Given the description of an element on the screen output the (x, y) to click on. 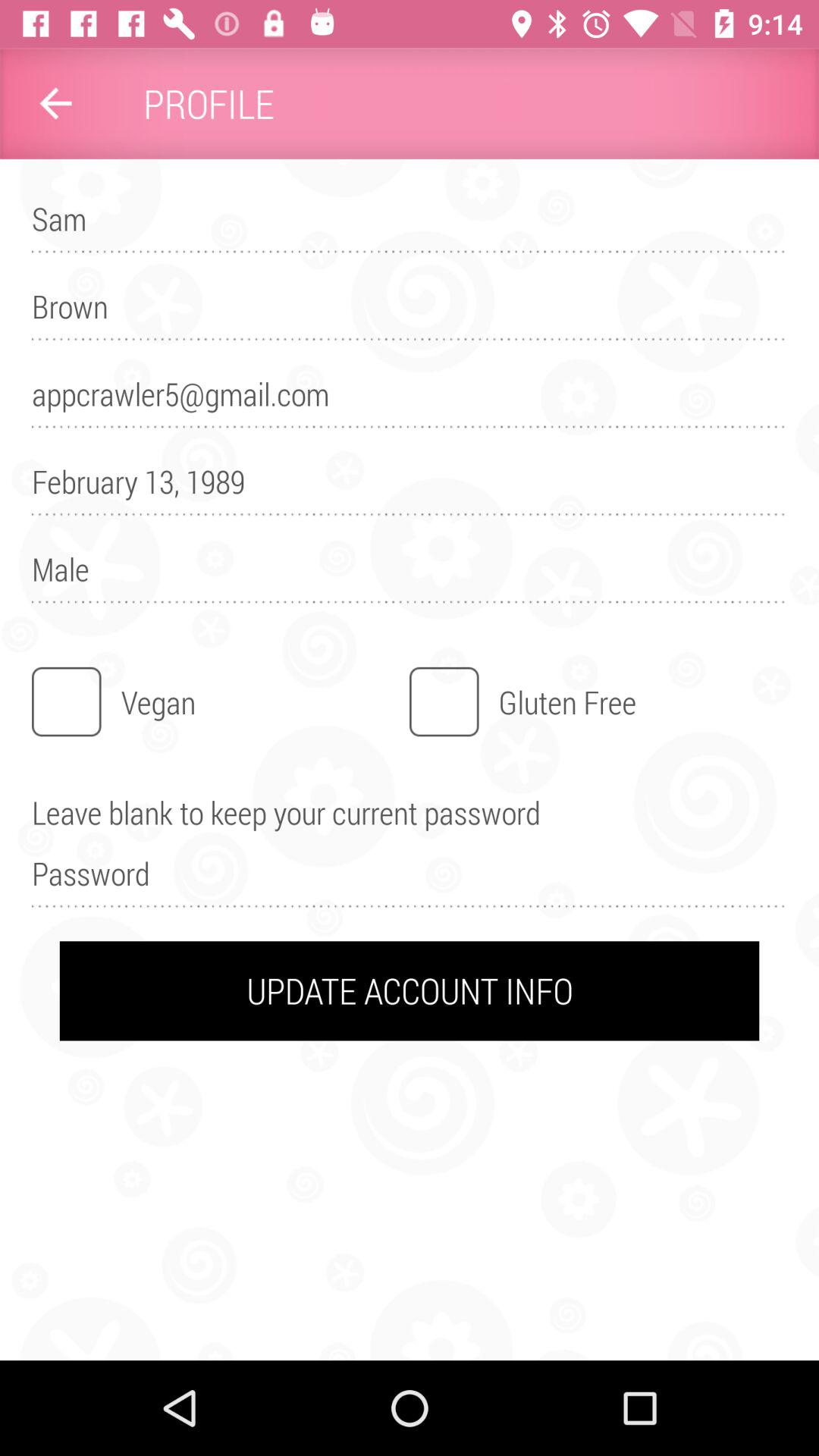
launch icon below the february 13, 1989 (409, 576)
